Given the description of an element on the screen output the (x, y) to click on. 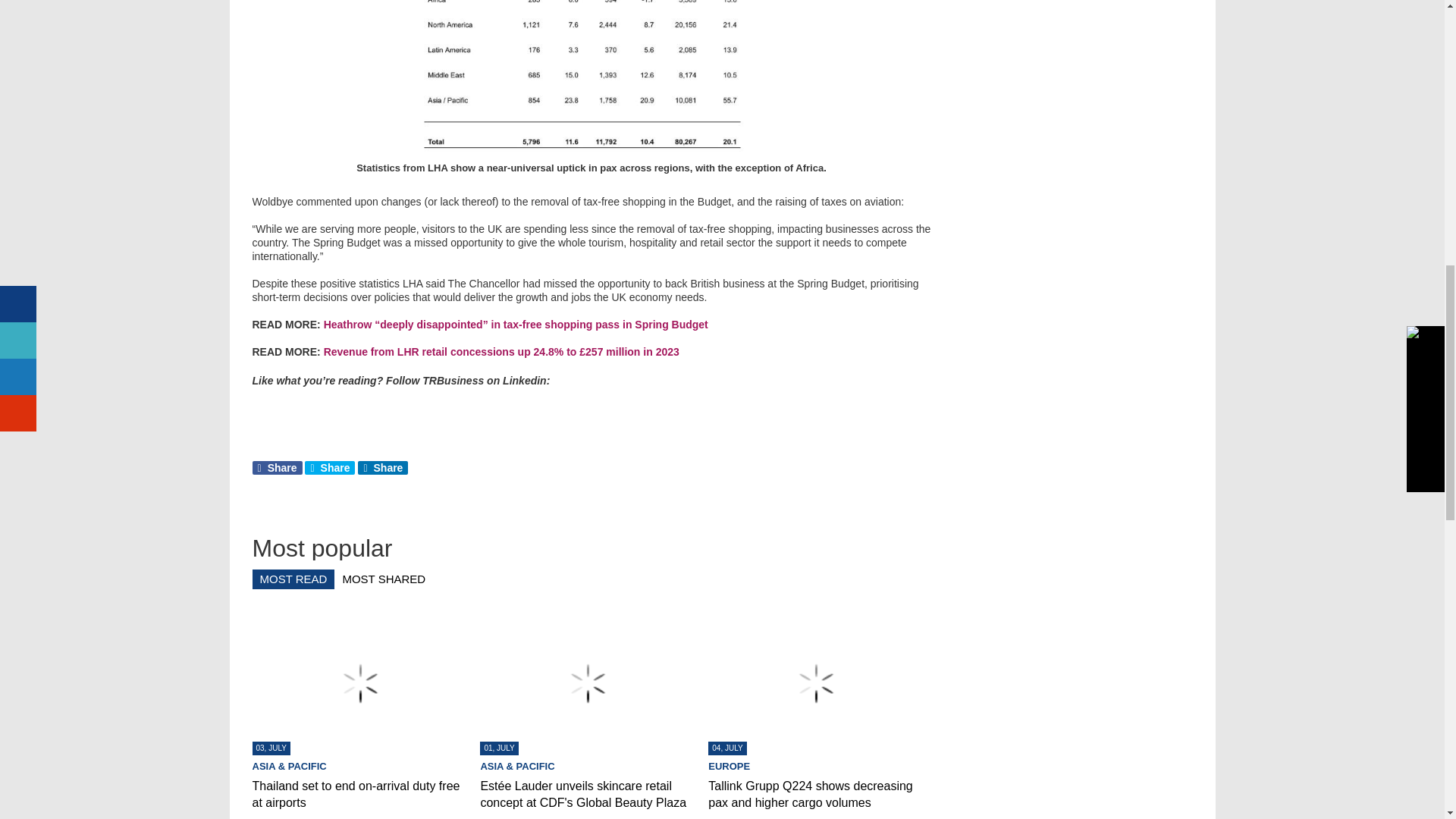
Heathrow pax feb (591, 75)
Share on Facebook (276, 468)
